Given the description of an element on the screen output the (x, y) to click on. 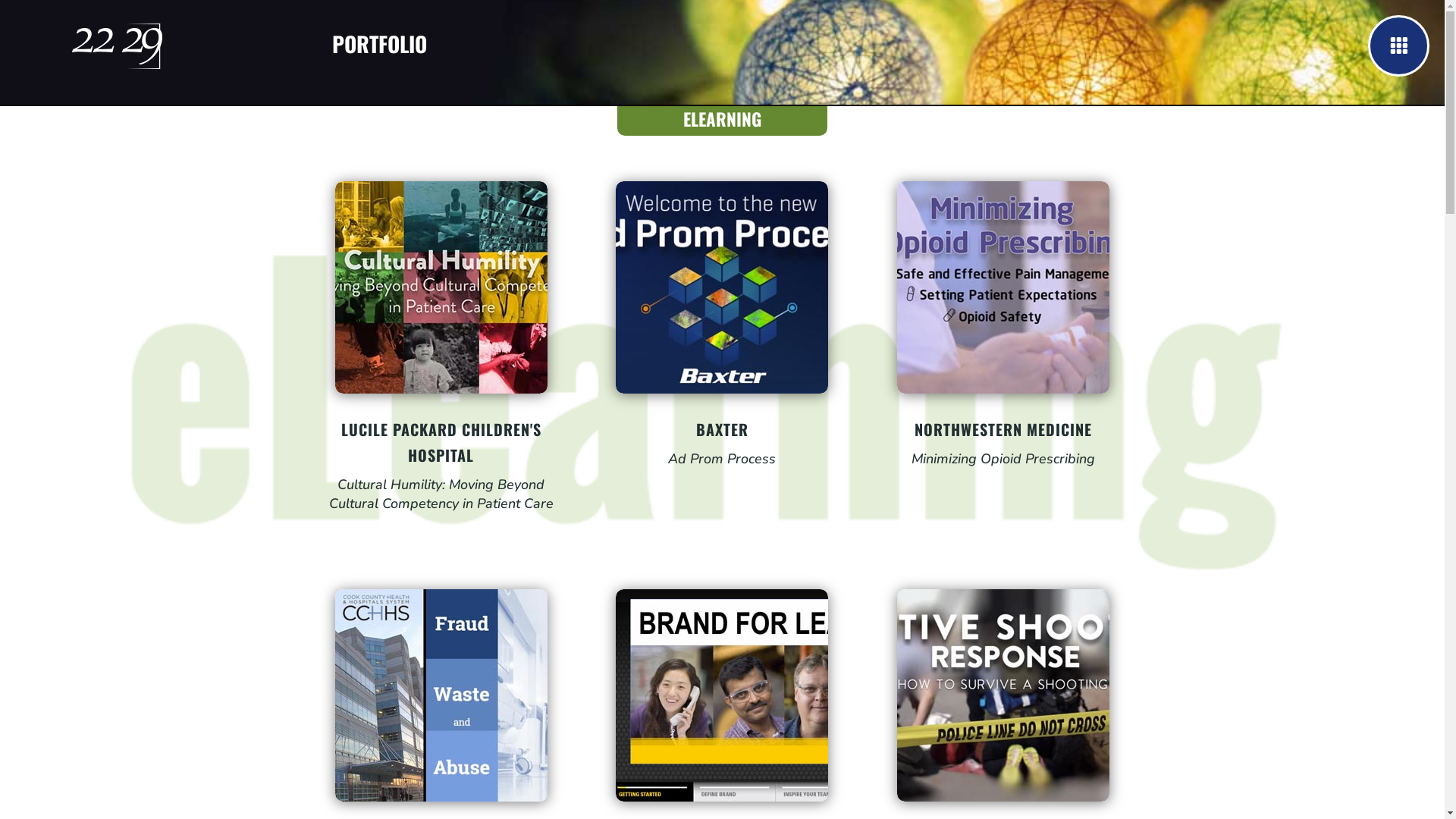
LUCILE PACKARD CHILDREN'S HOSPITAL Element type: text (441, 441)
